Given the description of an element on the screen output the (x, y) to click on. 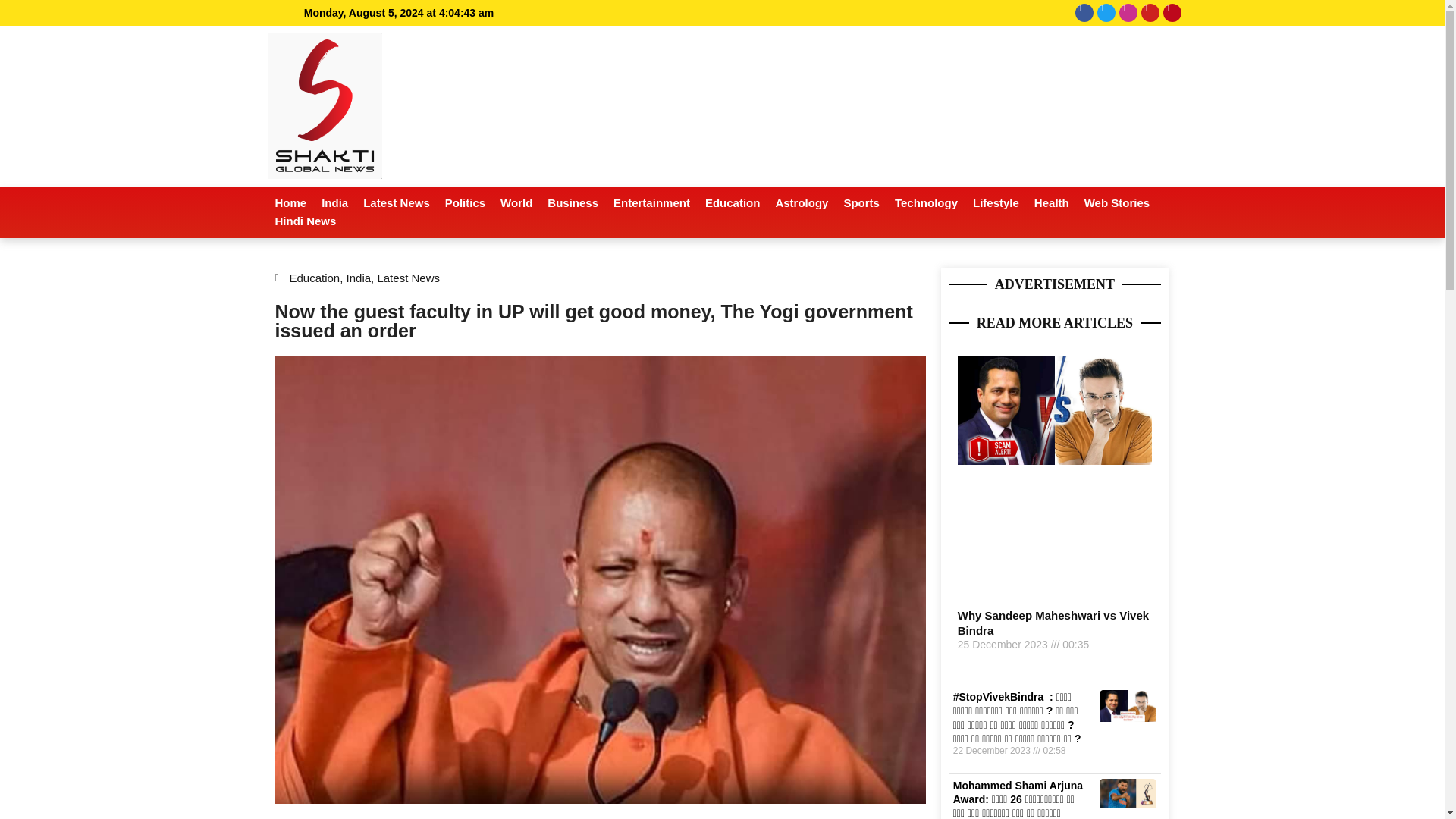
Latest News (396, 203)
Lifestyle (995, 203)
India (334, 203)
World (516, 203)
Home (290, 203)
Politics (465, 203)
Sports (860, 203)
Astrology (801, 203)
Entertainment (651, 203)
Education (732, 203)
Health (1051, 203)
Technology (925, 203)
Business (572, 203)
Hindi News (304, 221)
Web Stories (1117, 203)
